Given the description of an element on the screen output the (x, y) to click on. 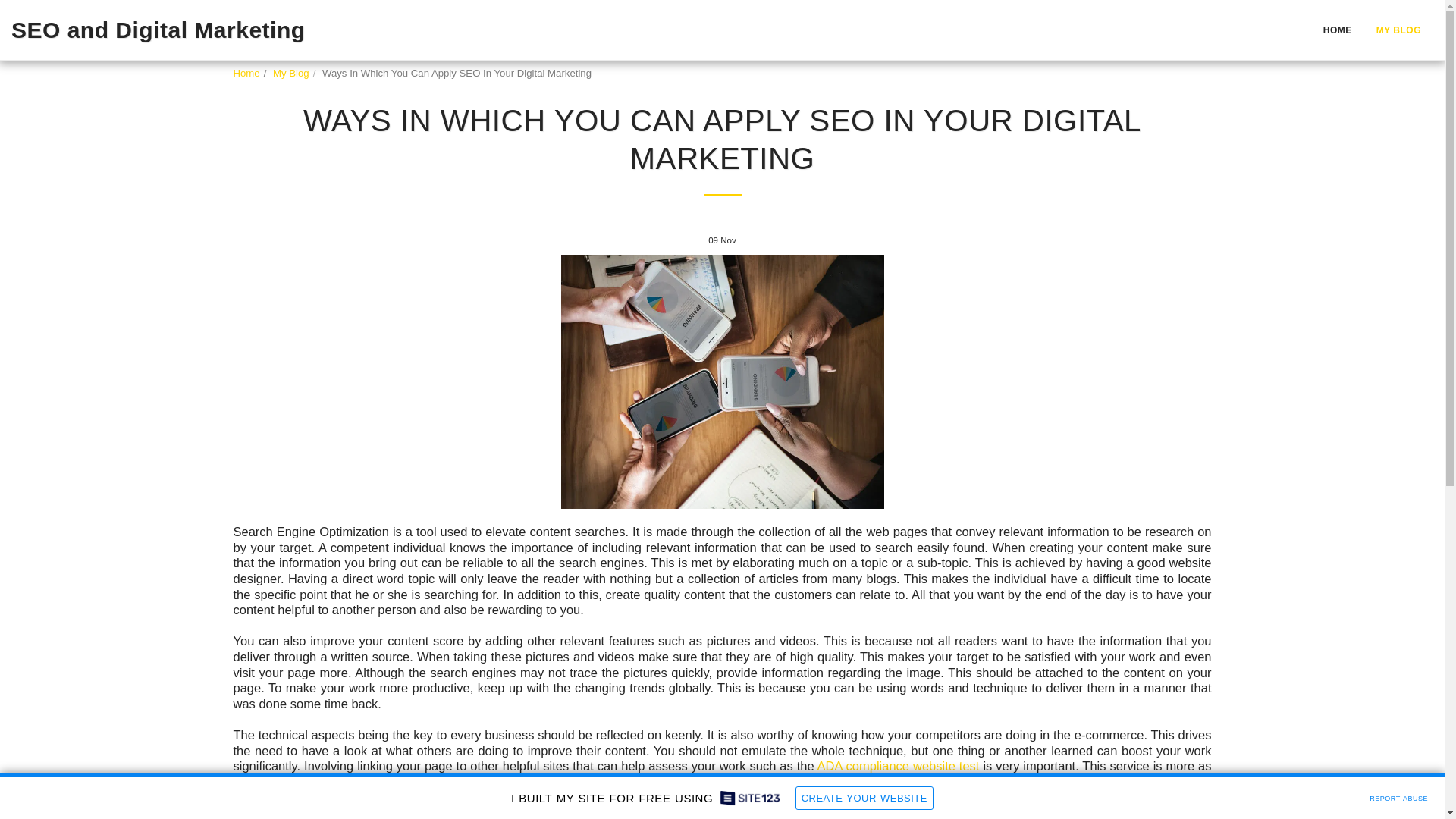
ADA compliance website test (897, 766)
REPORT ABUSE (1398, 796)
Accurate web solutions (621, 781)
My Blog (290, 72)
MY BLOG (1398, 30)
HOME (1336, 30)
Home (246, 72)
SEO and Digital Marketing (158, 30)
